Given the description of an element on the screen output the (x, y) to click on. 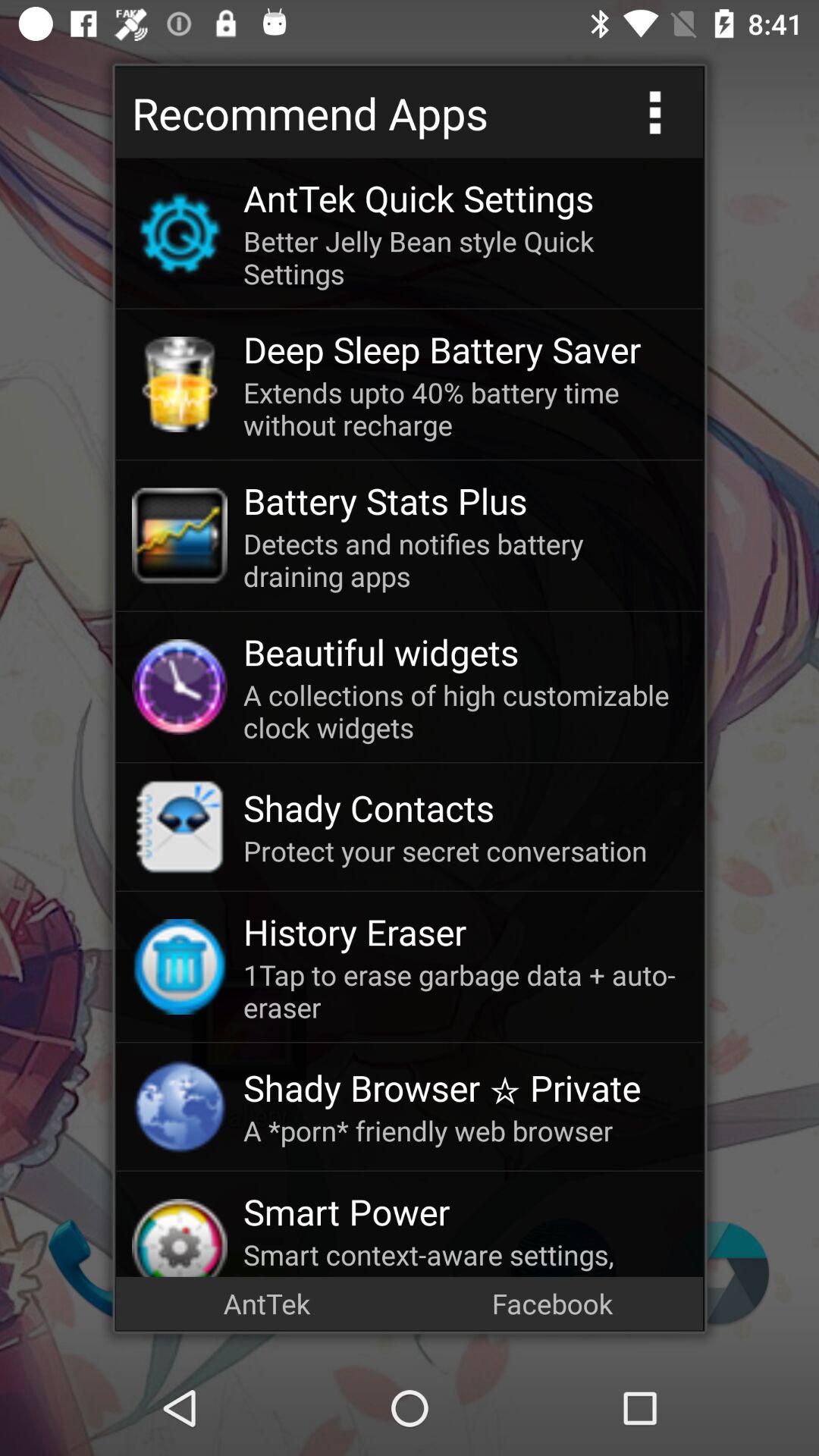
swipe until a porn friendly icon (465, 1130)
